Given the description of an element on the screen output the (x, y) to click on. 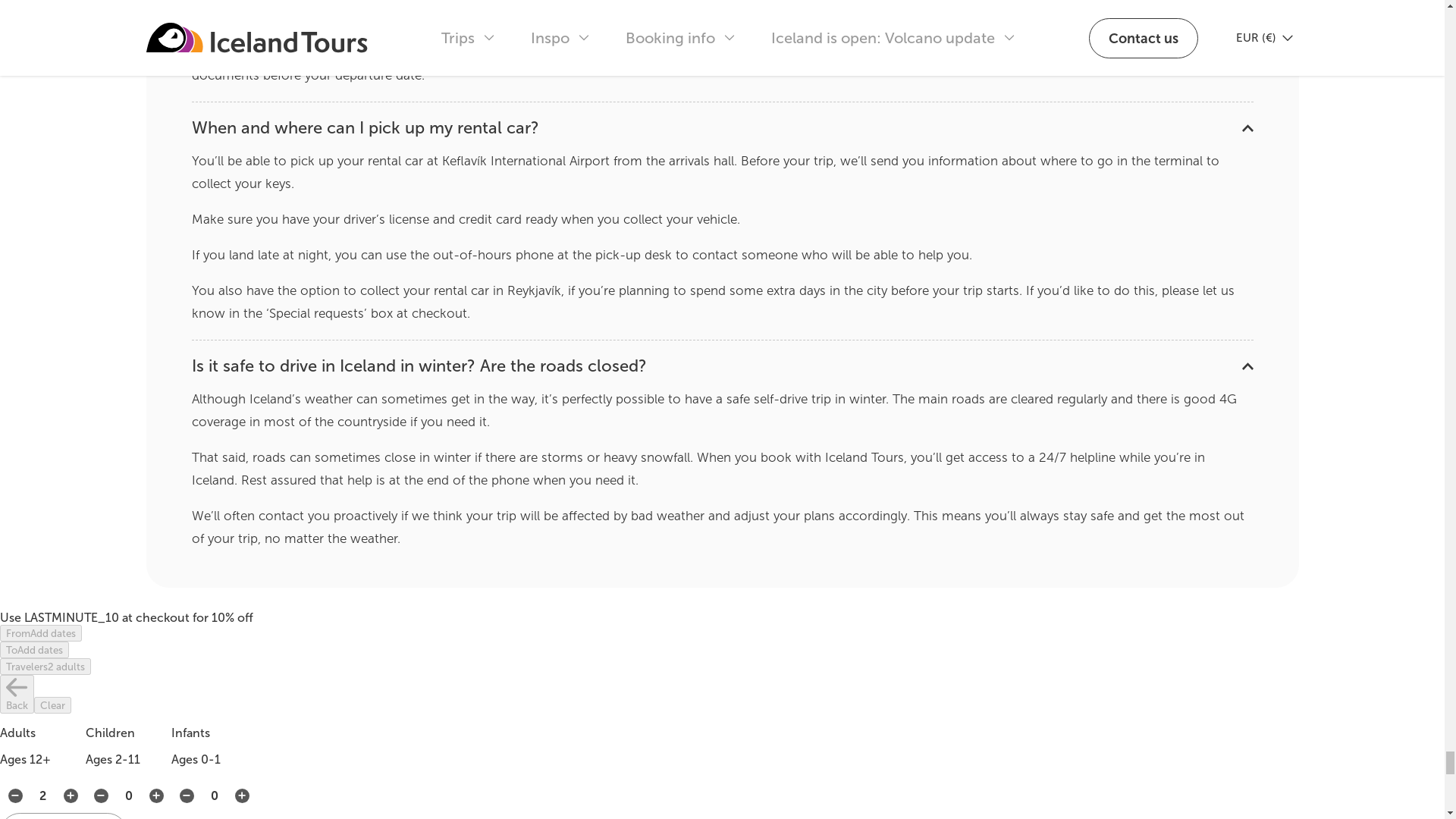
Read more (721, 365)
Read more (721, 127)
Clear (52, 704)
